Given the description of an element on the screen output the (x, y) to click on. 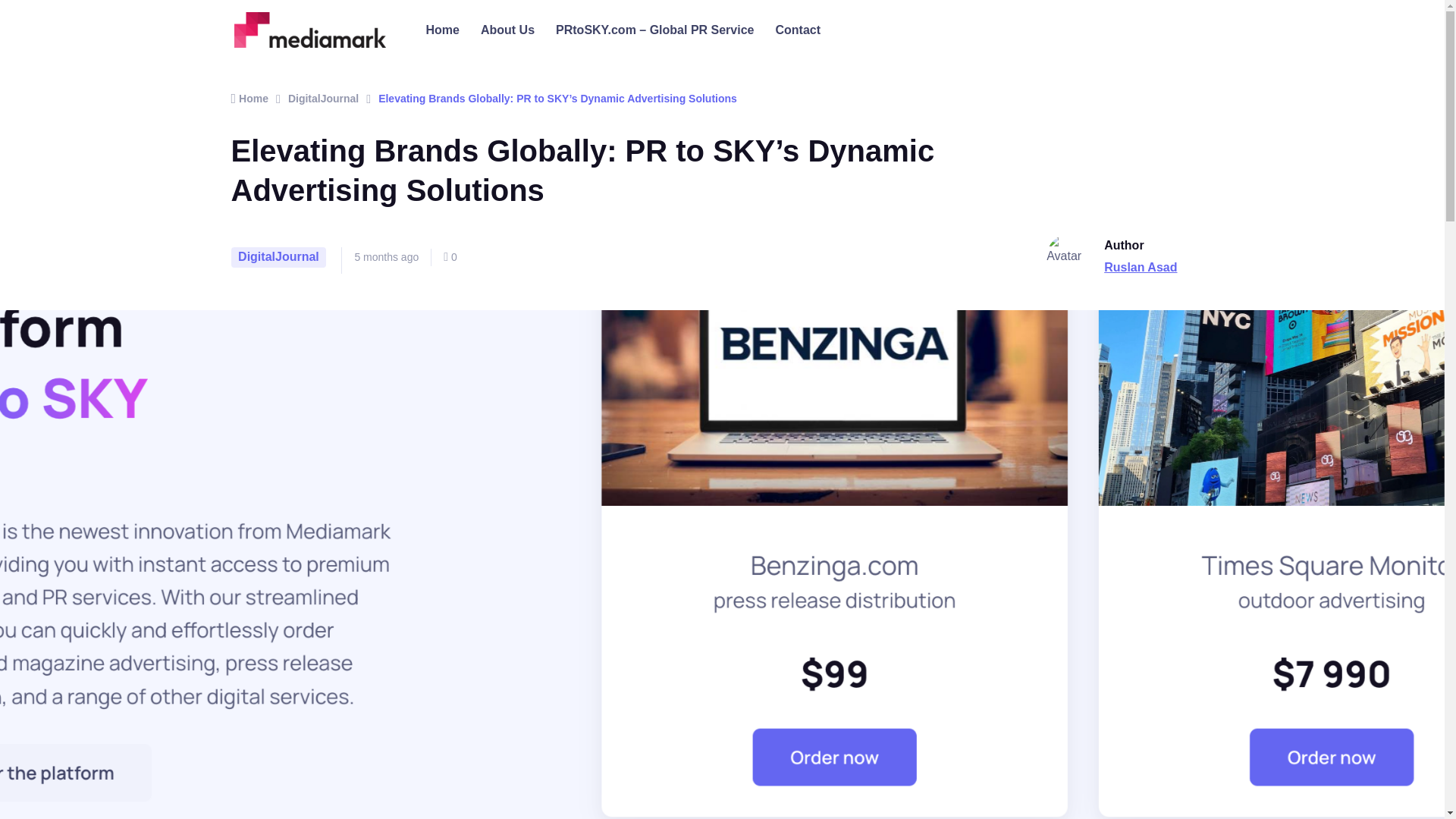
About Us (507, 29)
Ruslan Asad (1139, 267)
DigitalJournal (278, 257)
Home (248, 98)
Home (442, 29)
Contact (797, 29)
Contact (797, 29)
About Us (507, 29)
DigitalJournal (323, 98)
Home (442, 29)
PRtoSKY.com - Global PR Service (654, 29)
5 months ago (386, 256)
